Given the description of an element on the screen output the (x, y) to click on. 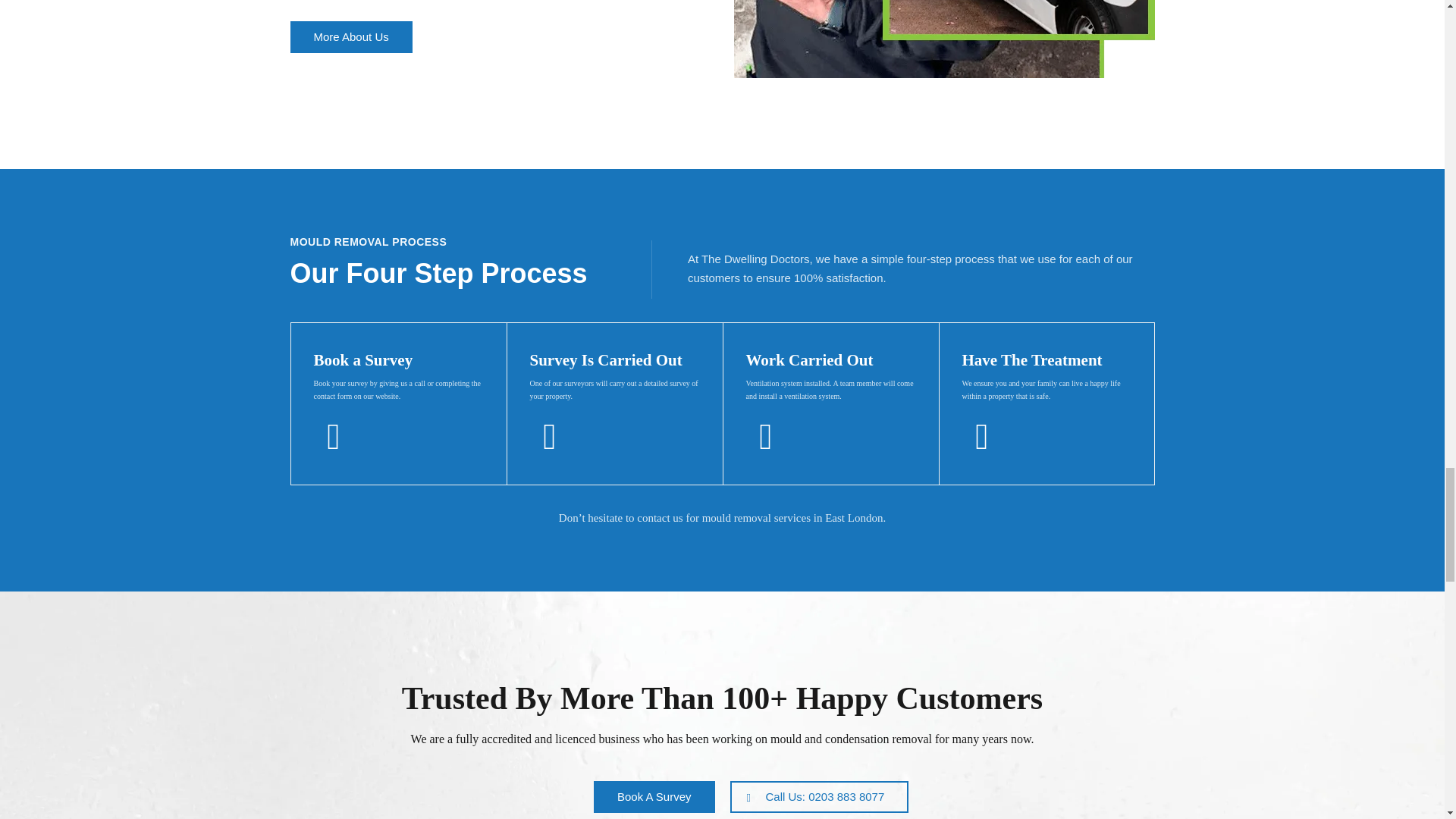
Book A Survey (654, 797)
More About Us (350, 37)
the-dwelling-doctors (943, 38)
Call Us: 0203 883 8077 (818, 797)
